Given the description of an element on the screen output the (x, y) to click on. 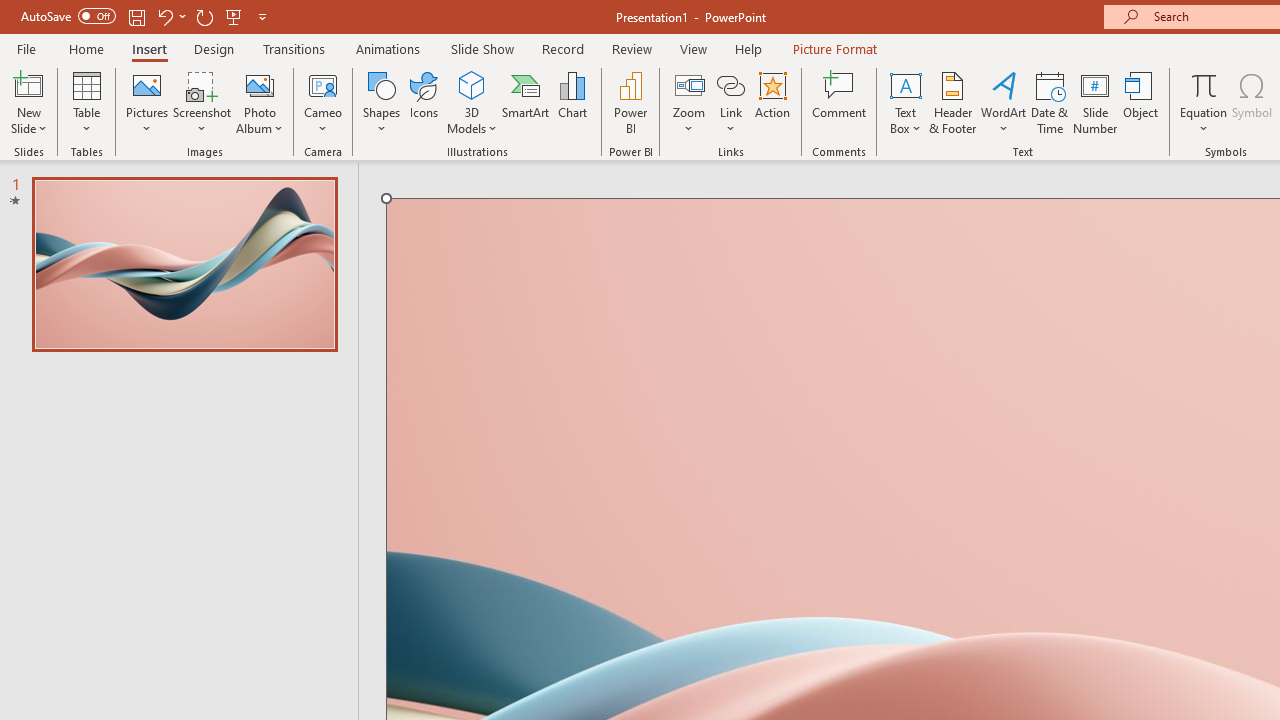
Action (772, 102)
Icons (424, 102)
Table (86, 102)
Symbol... (1252, 102)
